Given the description of an element on the screen output the (x, y) to click on. 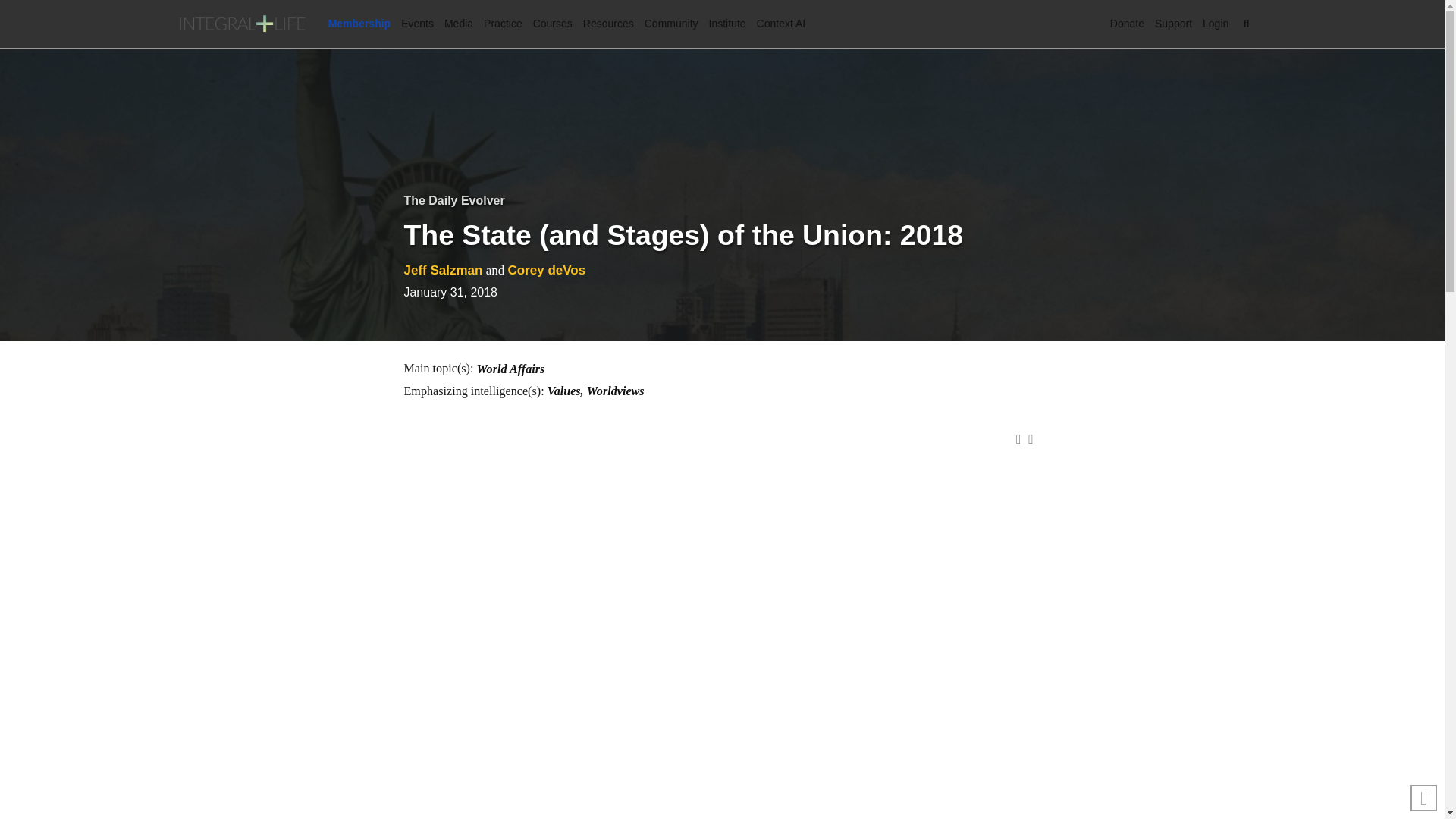
Posts by Corey deVos (545, 269)
Media (459, 23)
Events (417, 23)
Posts by Jeff Salzman (442, 269)
Membership (359, 23)
